Given the description of an element on the screen output the (x, y) to click on. 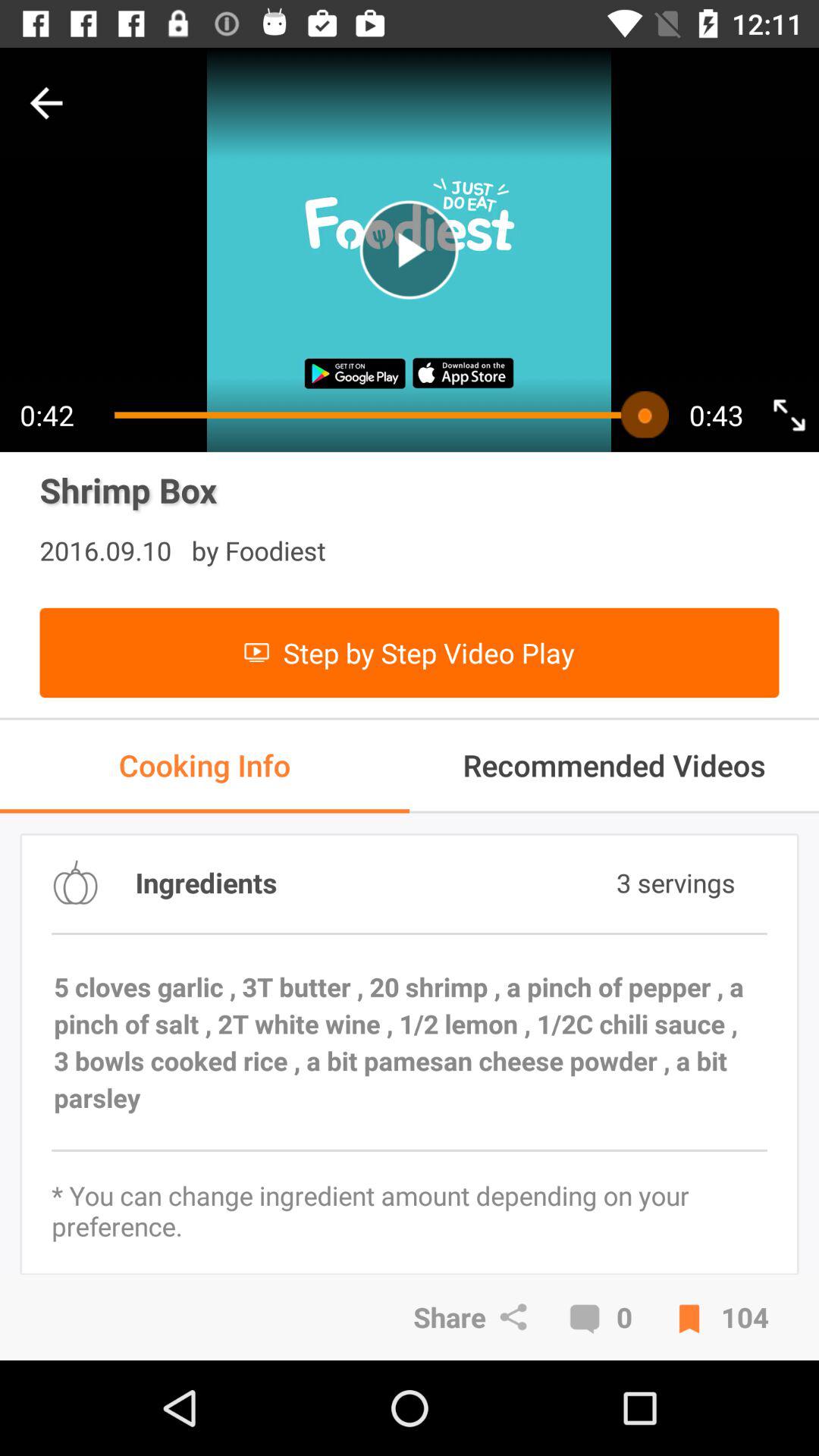
go back (46, 102)
